Given the description of an element on the screen output the (x, y) to click on. 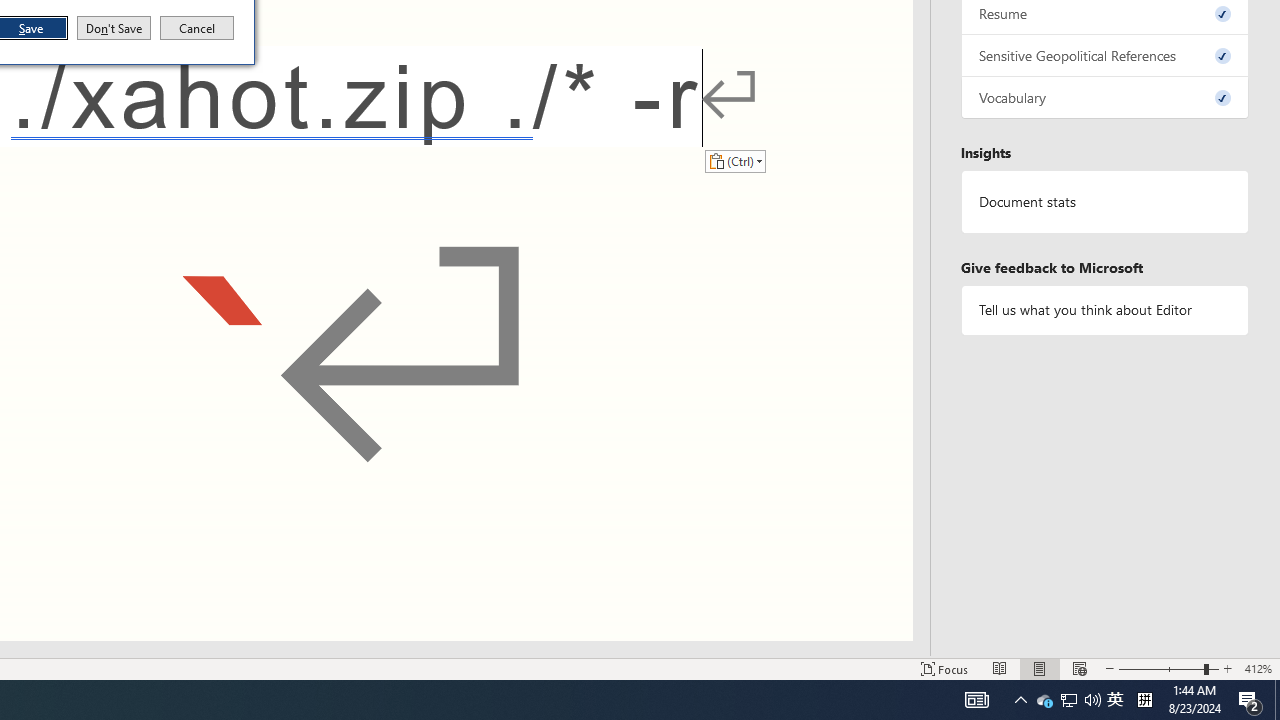
Vocabulary, 0 issues. Press space or enter to review items. (1105, 97)
Don't Save (113, 27)
Tray Input Indicator - Chinese (Simplified, China) (1144, 699)
Document statistics (1105, 202)
